Given the description of an element on the screen output the (x, y) to click on. 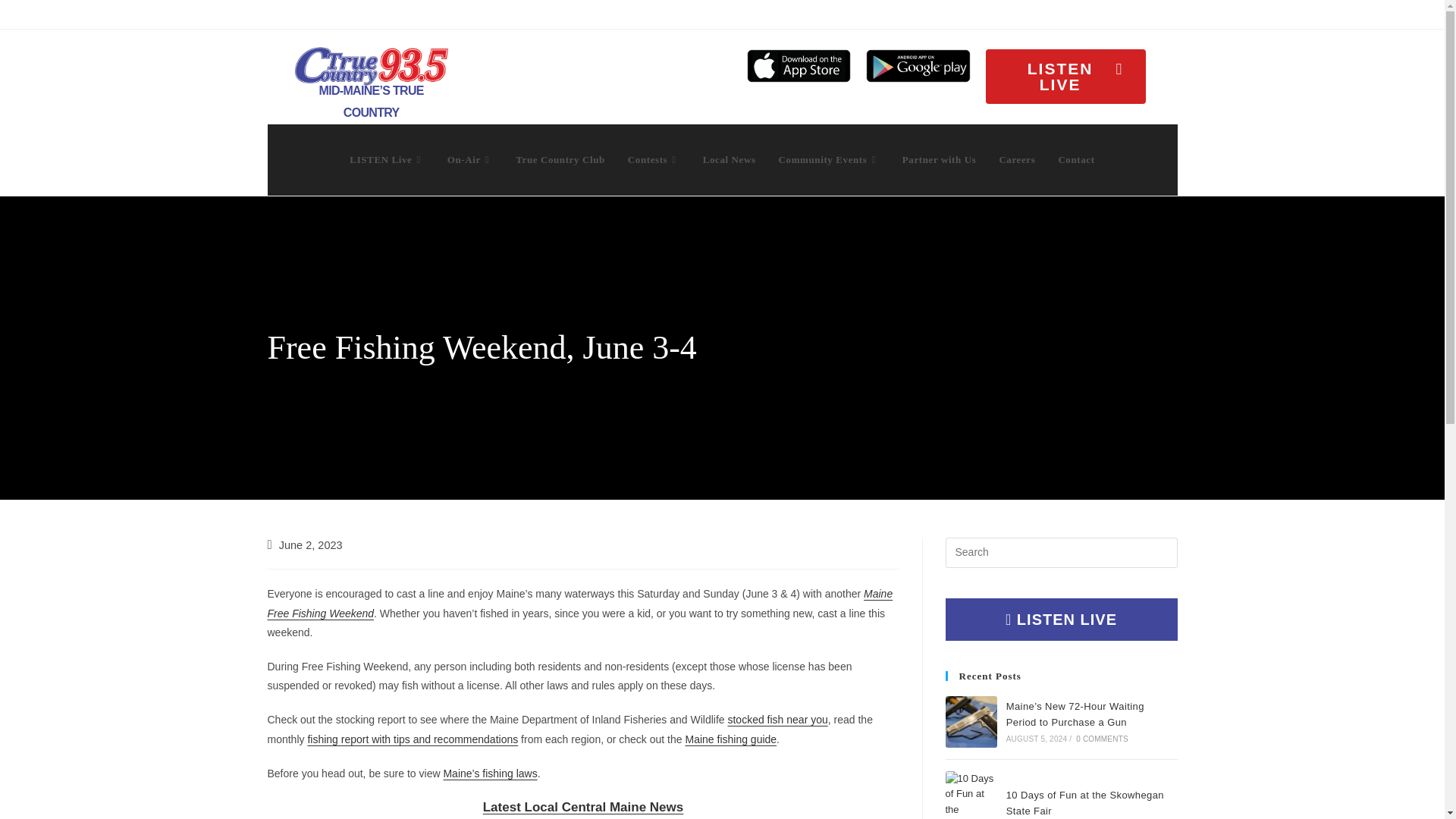
On-Air (469, 159)
LISTEN Live (386, 159)
Contests (653, 159)
Careers (1016, 159)
10 Days of Fun at the Skowhegan State Fair (969, 795)
Partner with Us (939, 159)
Community Events (829, 159)
Local News (729, 159)
Contact (1075, 159)
FACEBOOK (1334, 13)
True Country Club (559, 159)
LISTEN LIVE (1065, 76)
